Given the description of an element on the screen output the (x, y) to click on. 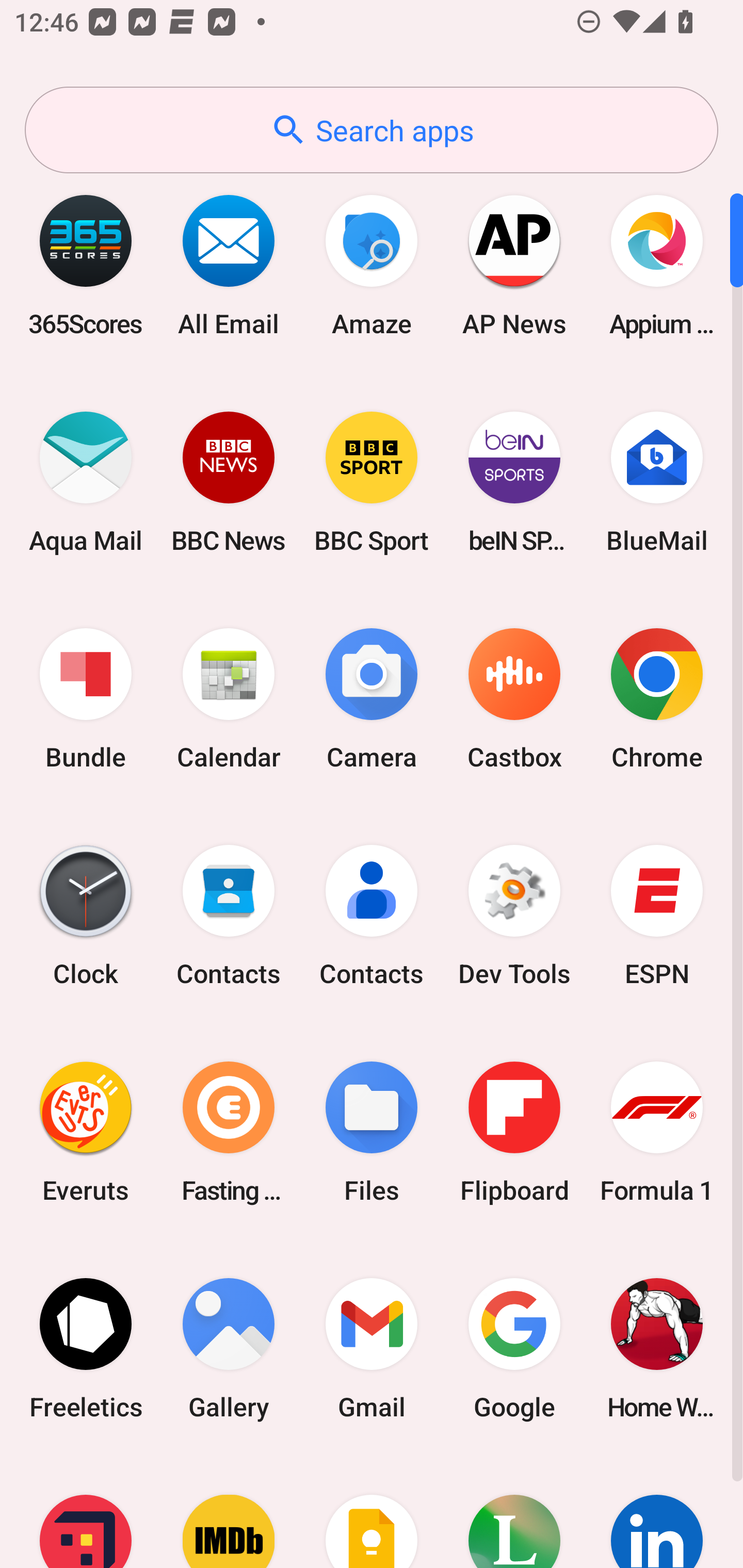
  Search apps (371, 130)
365Scores (85, 264)
All Email (228, 264)
Amaze (371, 264)
AP News (514, 264)
Appium Settings (656, 264)
Aqua Mail (85, 482)
BBC News (228, 482)
BBC Sport (371, 482)
beIN SPORTS (514, 482)
BlueMail (656, 482)
Bundle (85, 699)
Calendar (228, 699)
Camera (371, 699)
Castbox (514, 699)
Chrome (656, 699)
Clock (85, 915)
Contacts (228, 915)
Contacts (371, 915)
Dev Tools (514, 915)
ESPN (656, 915)
Everuts (85, 1131)
Fasting Coach (228, 1131)
Files (371, 1131)
Flipboard (514, 1131)
Formula 1 (656, 1131)
Freeletics (85, 1348)
Gallery (228, 1348)
Gmail (371, 1348)
Google (514, 1348)
Home Workout (656, 1348)
Hotels.com (85, 1512)
IMDb (228, 1512)
Keep Notes (371, 1512)
Lifesum (514, 1512)
LinkedIn (656, 1512)
